Given the description of an element on the screen output the (x, y) to click on. 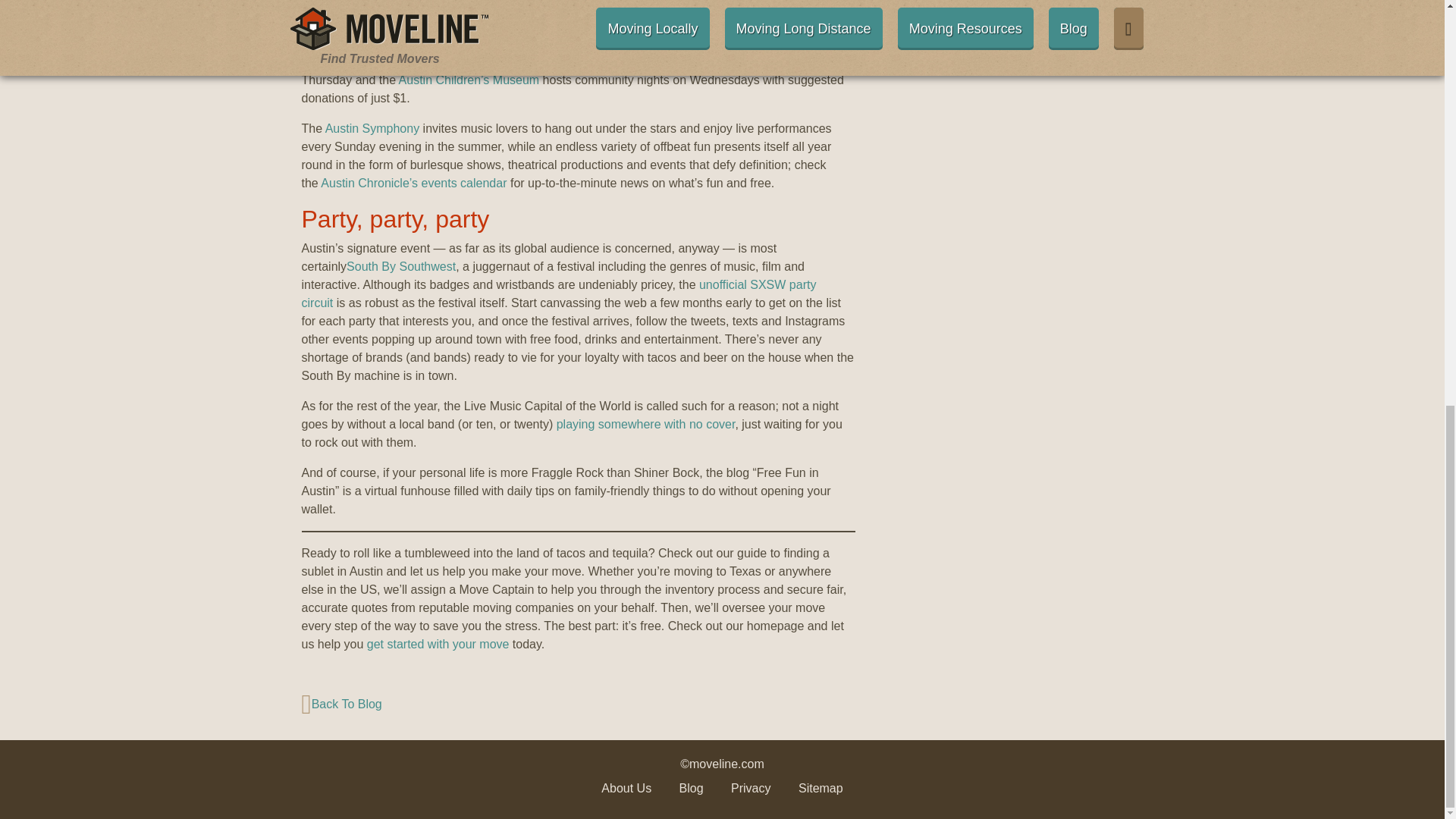
Back To Blog (578, 703)
playing somewhere with no cover (645, 423)
Sitemap (821, 788)
About Us (626, 788)
get started with your move (437, 644)
eight museums offer free admission all the time (455, 61)
Blanton (665, 61)
unofficial SXSW party circuit (558, 293)
Austin Symphony (372, 128)
South By Southwest (400, 266)
